Given the description of an element on the screen output the (x, y) to click on. 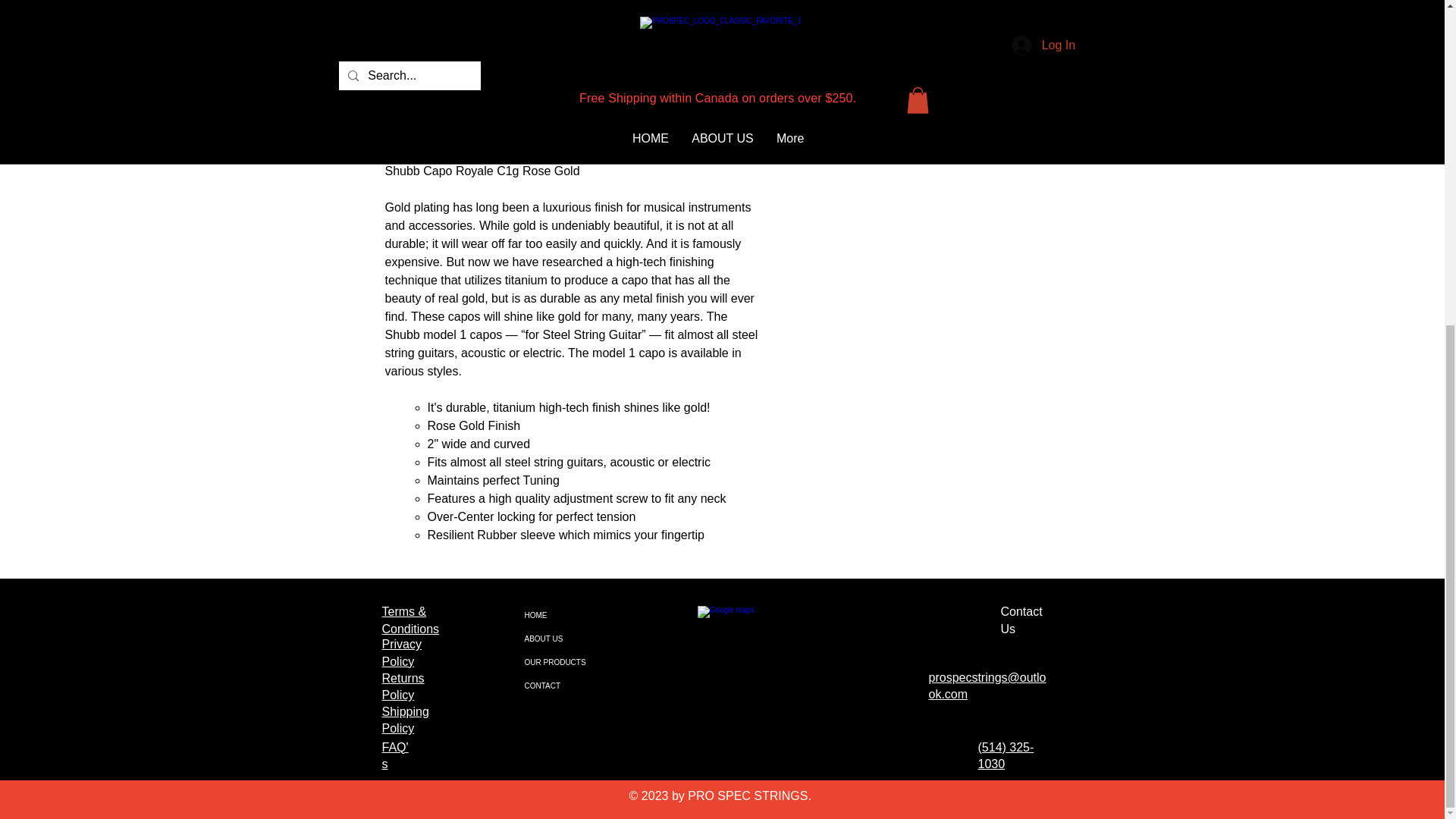
Privacy Policy (401, 652)
FAQ's (395, 755)
ABOUT US (560, 638)
CONTACT (560, 685)
Shipping Policy (405, 719)
OUR PRODUCTS (560, 662)
HOME (560, 615)
Returns Policy (403, 686)
